Given the description of an element on the screen output the (x, y) to click on. 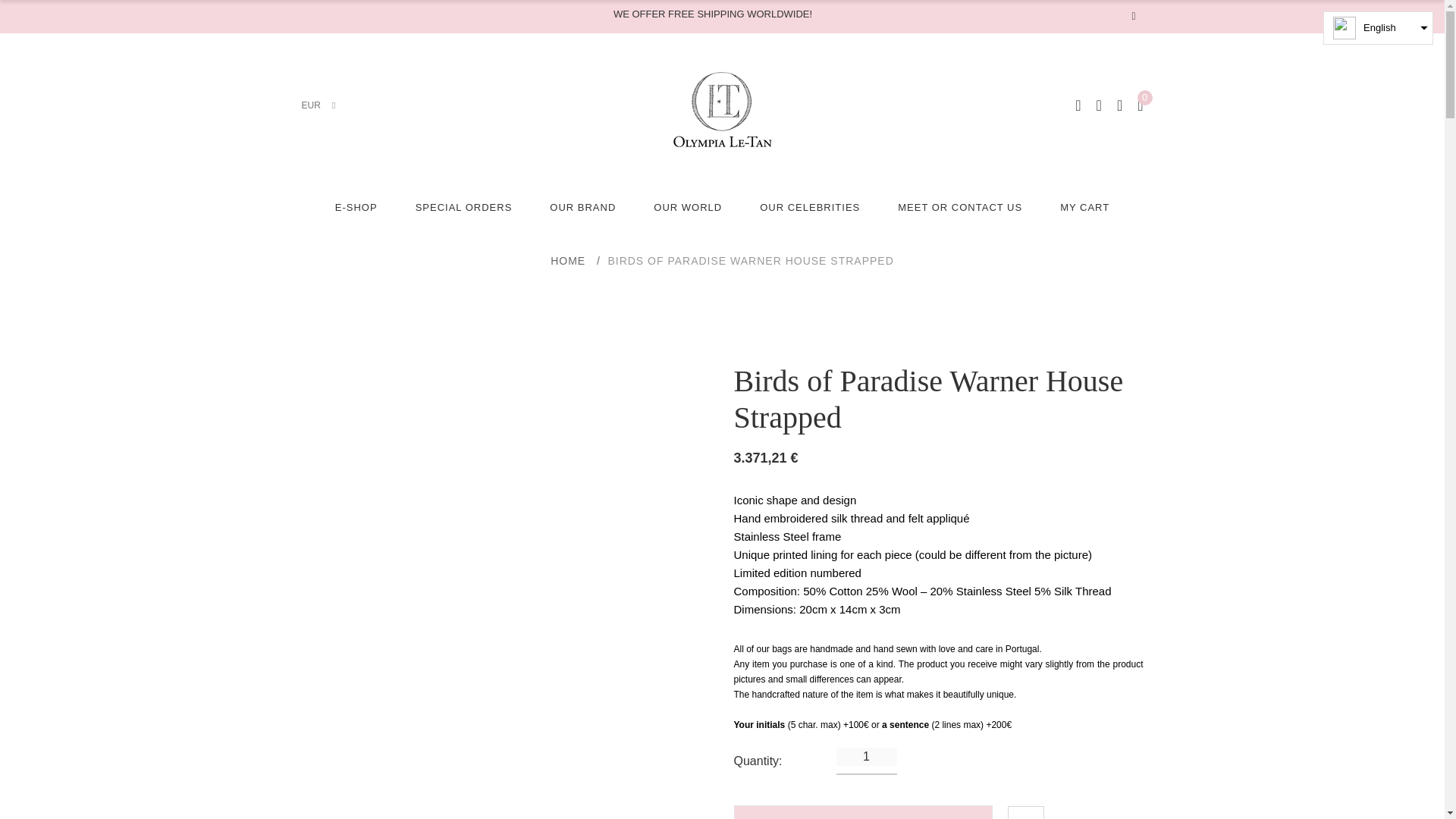
1 (865, 756)
OUR WORLD (687, 207)
OUR BRAND (582, 207)
OUR CELEBRITIES (810, 207)
Back to the home page (567, 261)
SPECIAL ORDERS (463, 207)
MEET OR CONTACT US (960, 207)
